Given the description of an element on the screen output the (x, y) to click on. 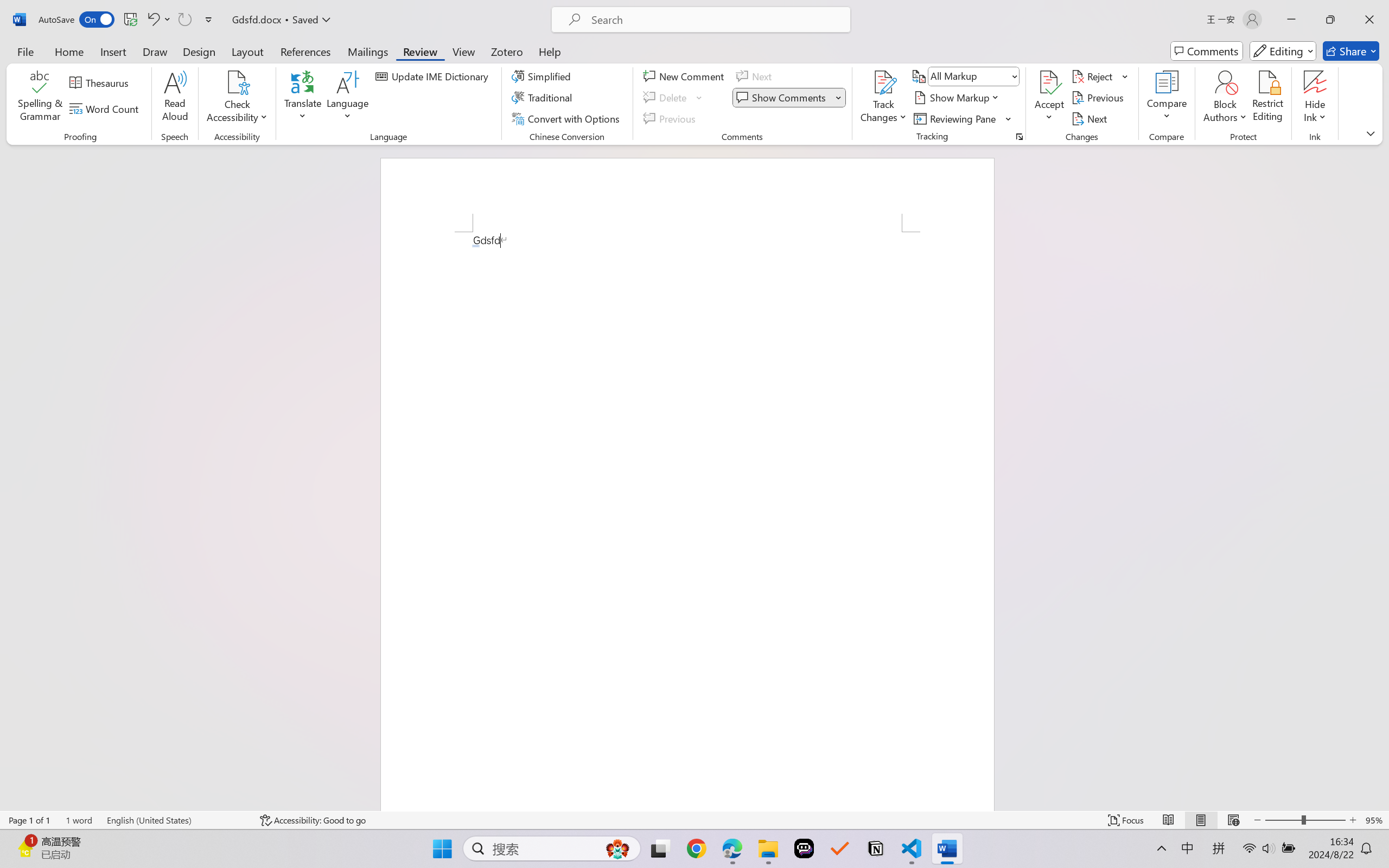
Simplified (542, 75)
Block Authors (1224, 81)
Accept and Move to Next (1049, 81)
Reject (1100, 75)
Delete (673, 97)
Action: Undo Auto Actions (475, 245)
Can't Repeat (184, 19)
Restrict Editing (1267, 97)
Compare (1166, 97)
